Given the description of an element on the screen output the (x, y) to click on. 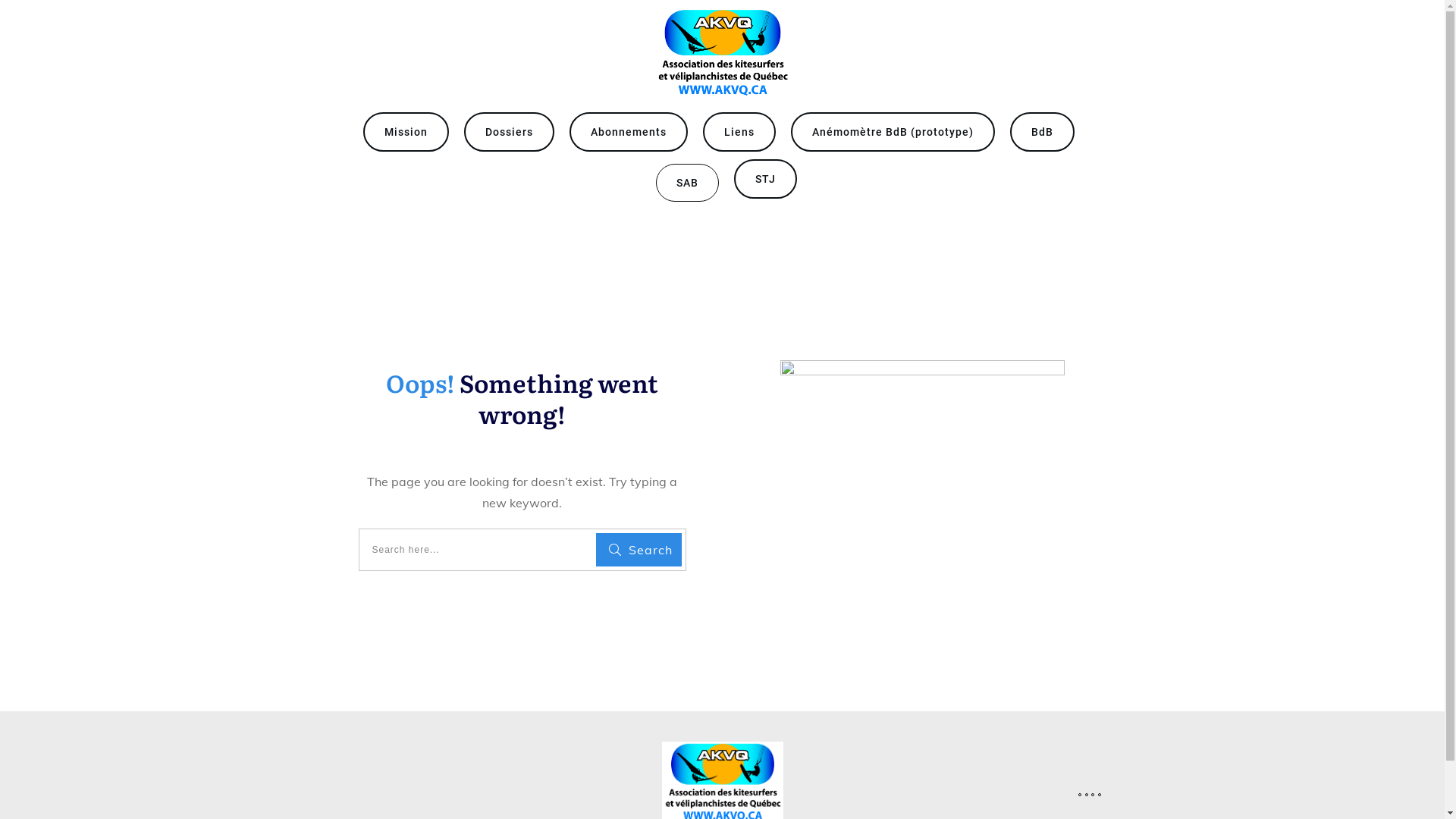
Mission Element type: text (404, 131)
Liens Element type: text (738, 131)
BdB Element type: text (1042, 131)
Abonnements Element type: text (627, 131)
Search Element type: text (638, 549)
Dossiers Element type: text (509, 131)
STJ Element type: text (765, 178)
404 Element type: hover (922, 468)
SAB Element type: text (687, 182)
